Given the description of an element on the screen output the (x, y) to click on. 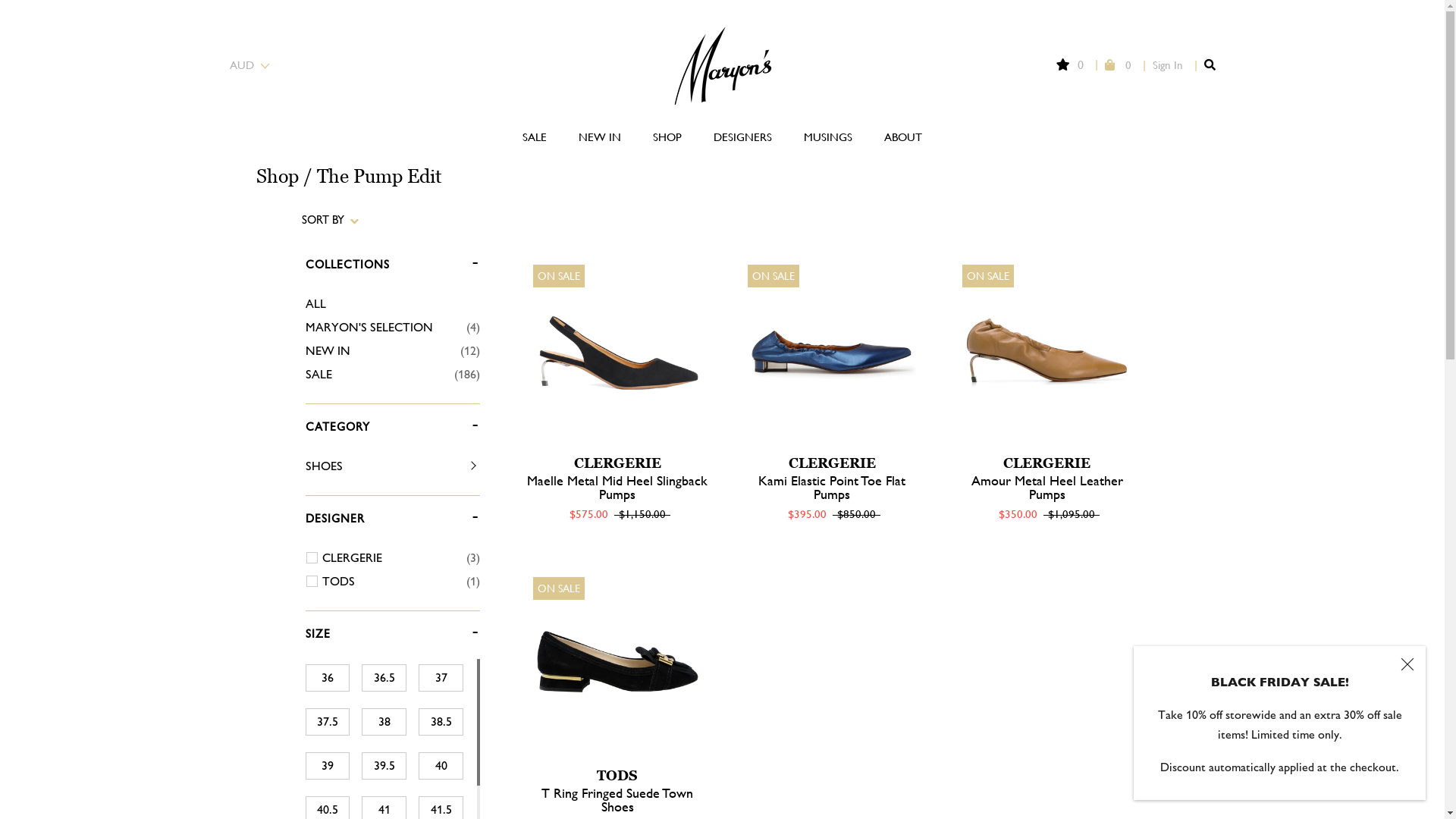
SALE
SALE Element type: text (534, 136)
MUSINGS
MUSINGS Element type: text (827, 136)
ABOUT
ABOUT Element type: text (903, 136)
CLERGERIE
(3) Element type: text (400, 558)
SALE
(186) Element type: text (391, 374)
MARYON'S SELECTION
(4) Element type: text (391, 327)
COLLECTIONS Element type: text (346, 267)
NEW IN
NEW IN Element type: text (599, 136)
38.5 Element type: text (440, 721)
CATEGORY Element type: text (336, 429)
37 Element type: text (440, 677)
0 Element type: text (1068, 64)
SHOES Element type: text (379, 466)
39.5 Element type: text (383, 765)
36.5 Element type: text (383, 677)
40 Element type: text (440, 765)
37.5 Element type: text (326, 721)
DESIGNER Element type: text (334, 521)
Maelle Metal Mid Heel Slingback Pumps Element type: text (617, 487)
NEW IN
(12) Element type: text (391, 351)
SHOP
SHOP Element type: text (666, 136)
Kami Elastic Point Toe Flat Pumps Element type: text (831, 487)
Sign In Element type: text (1167, 65)
38 Element type: text (383, 721)
36 Element type: text (326, 677)
ALL Element type: text (391, 303)
0 Element type: text (1117, 64)
T Ring Fringed Suede Town Shoes Element type: text (617, 799)
Amour Metal Heel Leather Pumps Element type: text (1047, 487)
Shop Element type: text (277, 175)
SIZE Element type: text (316, 636)
TODS
(1) Element type: text (400, 581)
DESIGNERS
DESIGNERS Element type: text (742, 136)
39 Element type: text (326, 765)
SORT BY Element type: text (329, 222)
